Given the description of an element on the screen output the (x, y) to click on. 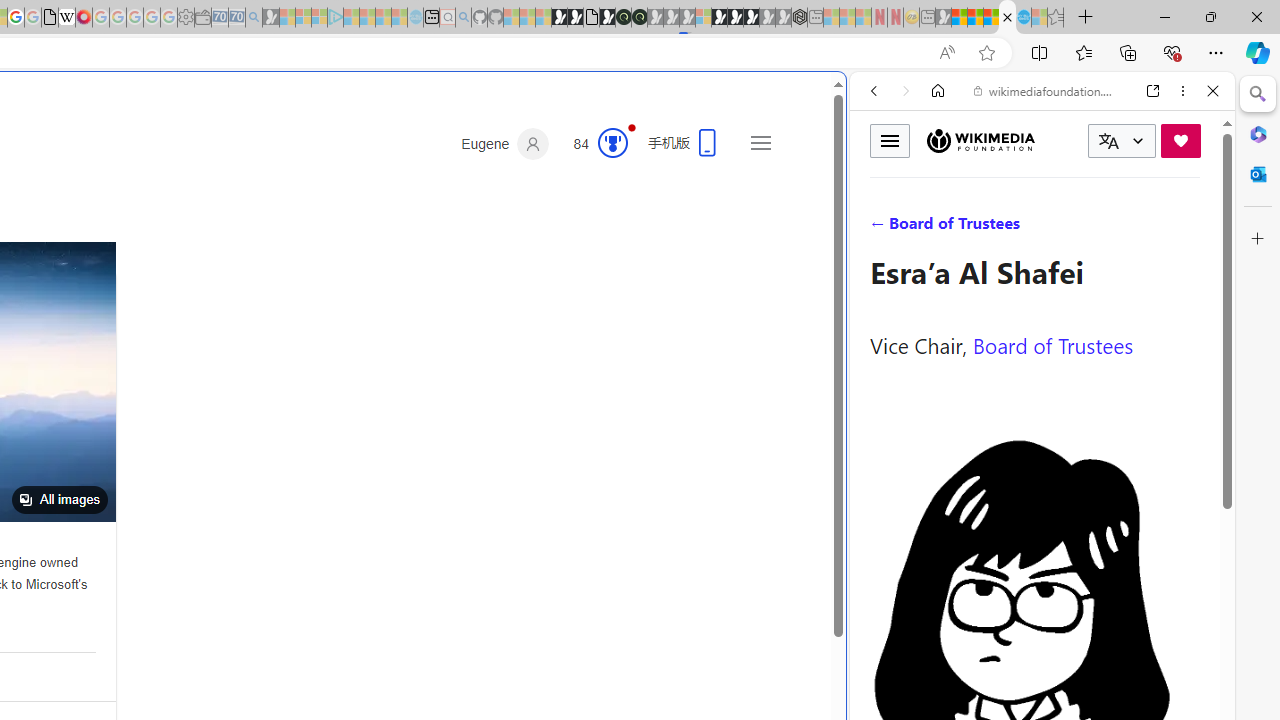
AutomationID: rh_meter (612, 142)
Animation (632, 127)
Toggle menu (890, 140)
Eugene (505, 143)
Home | Sky Blue Bikes - Sky Blue Bikes (687, 426)
This site scope (936, 180)
Close split screen (844, 102)
